Given the description of an element on the screen output the (x, y) to click on. 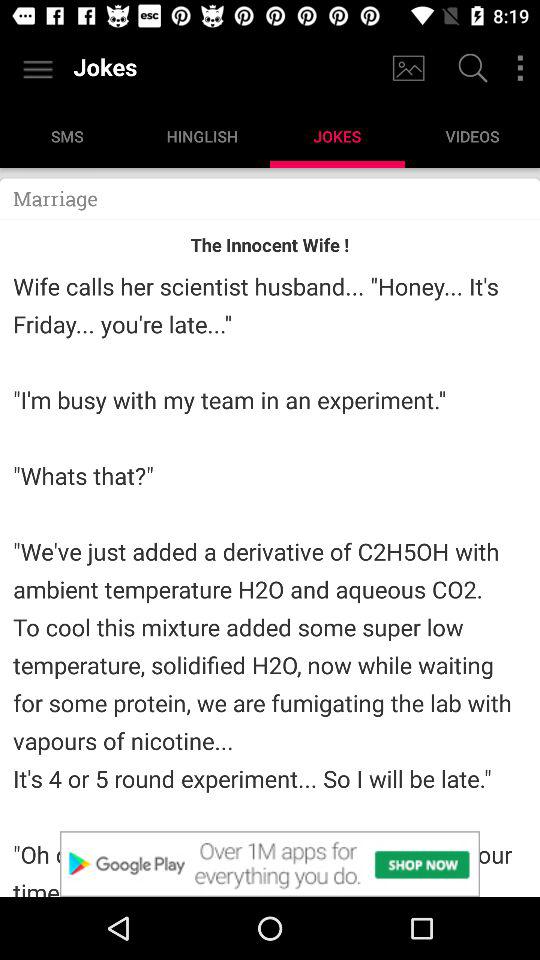
view filters (520, 67)
